Given the description of an element on the screen output the (x, y) to click on. 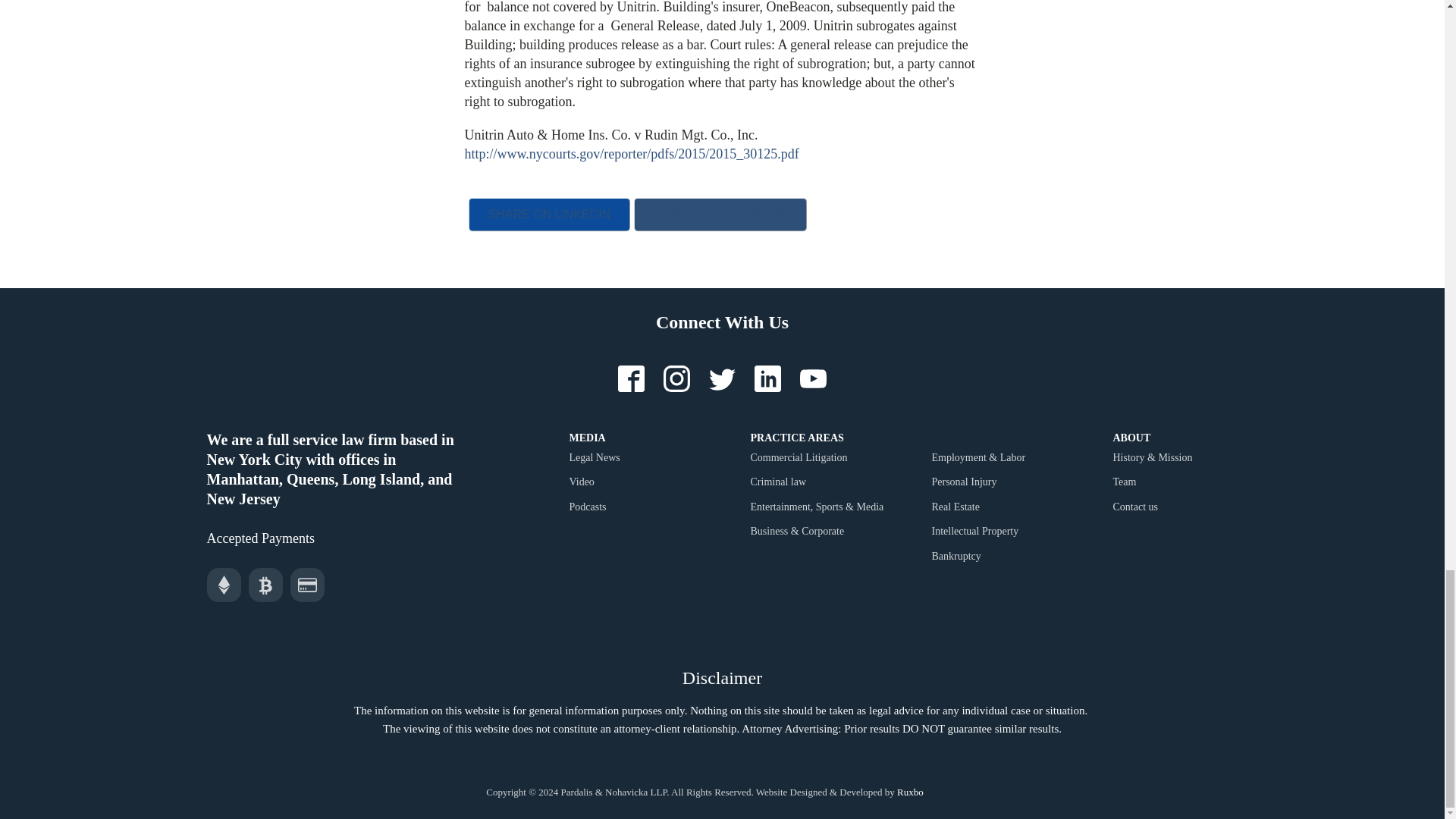
Share on Facebook (720, 214)
SHARE ON FACEBOOK (719, 214)
Share on LinkedIn (549, 214)
SHARE ON LINKEDIN (549, 214)
SHARE ON FACEBOOK (720, 214)
SHARE ON LINKEDIN (549, 214)
